Given the description of an element on the screen output the (x, y) to click on. 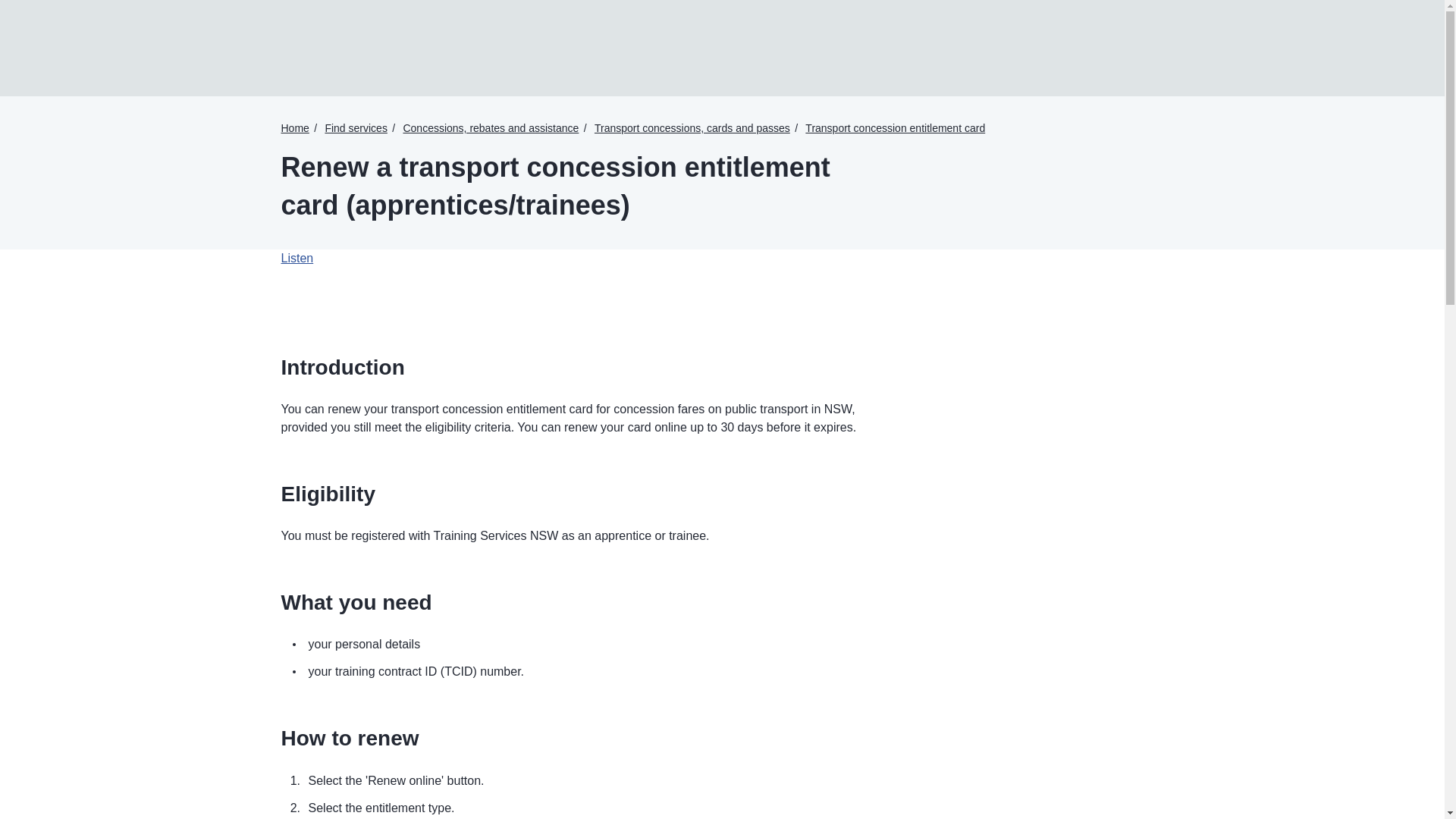
Listen to this page using ReadSpeaker (297, 257)
Concessions, rebates and assistance (490, 128)
Transport concession entitlement card (895, 128)
Home (294, 128)
Find services (355, 128)
Transport concessions, cards and passes (692, 128)
Listen (297, 257)
